Given the description of an element on the screen output the (x, y) to click on. 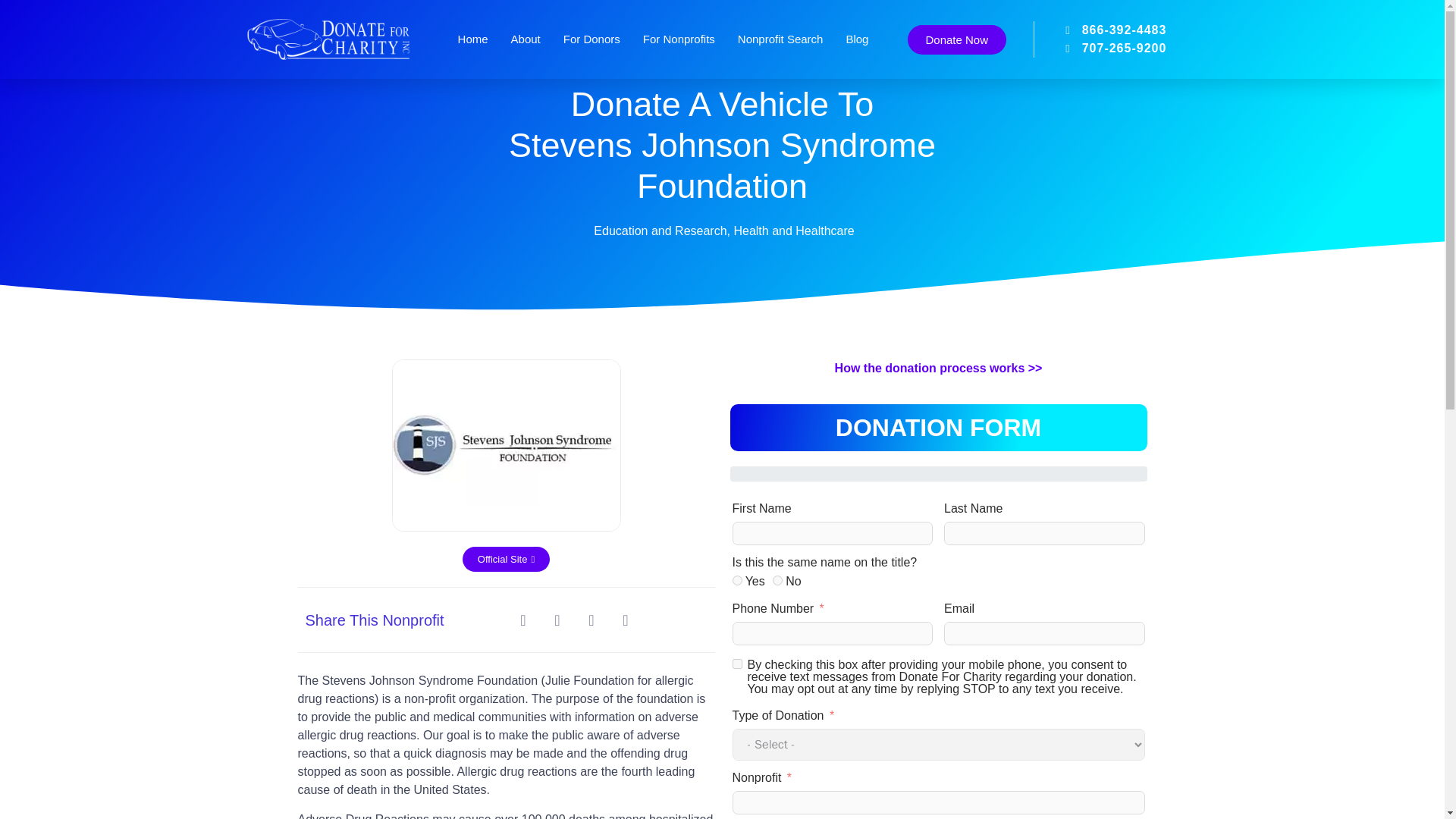
866-392-4483 (1099, 30)
Official Site (506, 559)
For Nonprofits (678, 38)
Donate Now (956, 39)
707-265-9200 (1099, 48)
on (737, 664)
yes (737, 580)
Nonprofit Search (781, 38)
Health and Healthcare (793, 230)
Education and Research (660, 230)
